Given the description of an element on the screen output the (x, y) to click on. 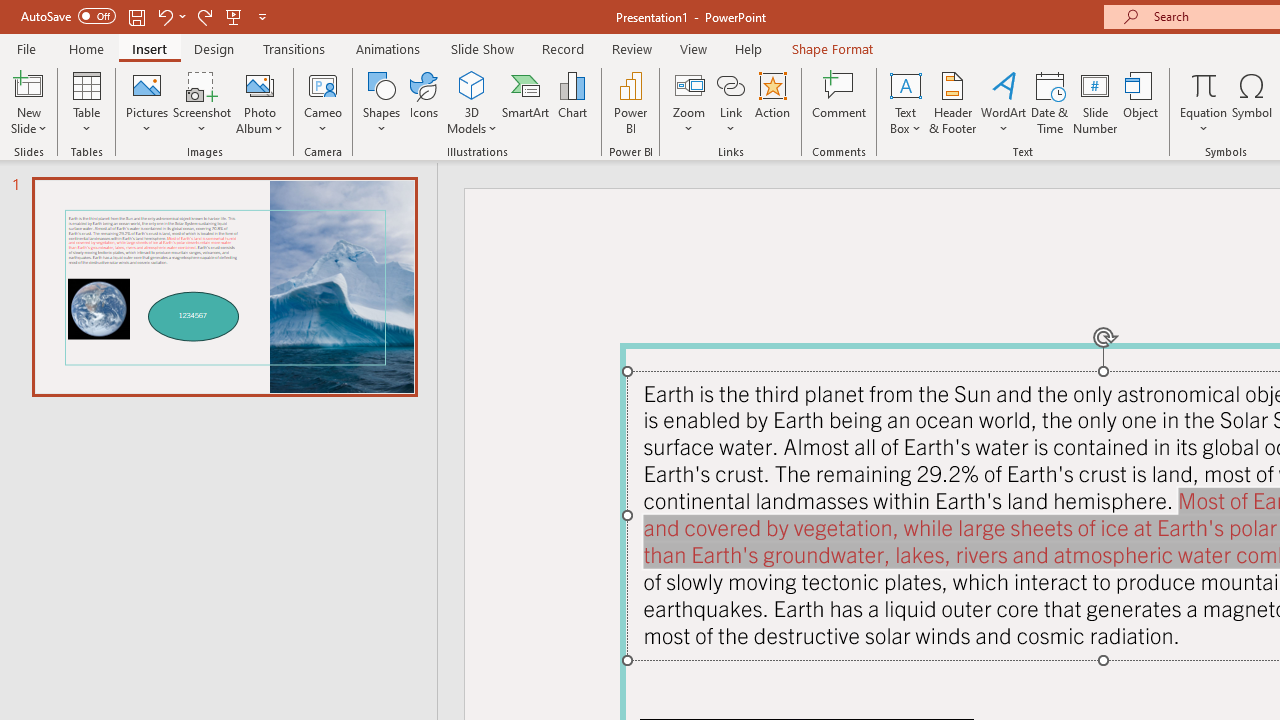
Link (731, 84)
Screenshot (202, 102)
New Photo Album... (259, 84)
Pictures (147, 102)
